Given the description of an element on the screen output the (x, y) to click on. 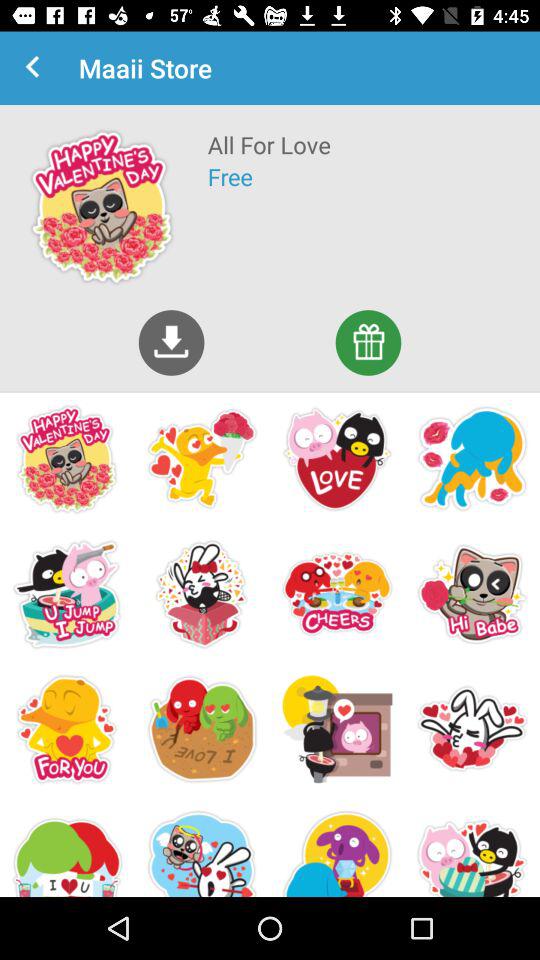
click on the  second row second image (202, 594)
select the image beside all for love (102, 206)
